Given the description of an element on the screen output the (x, y) to click on. 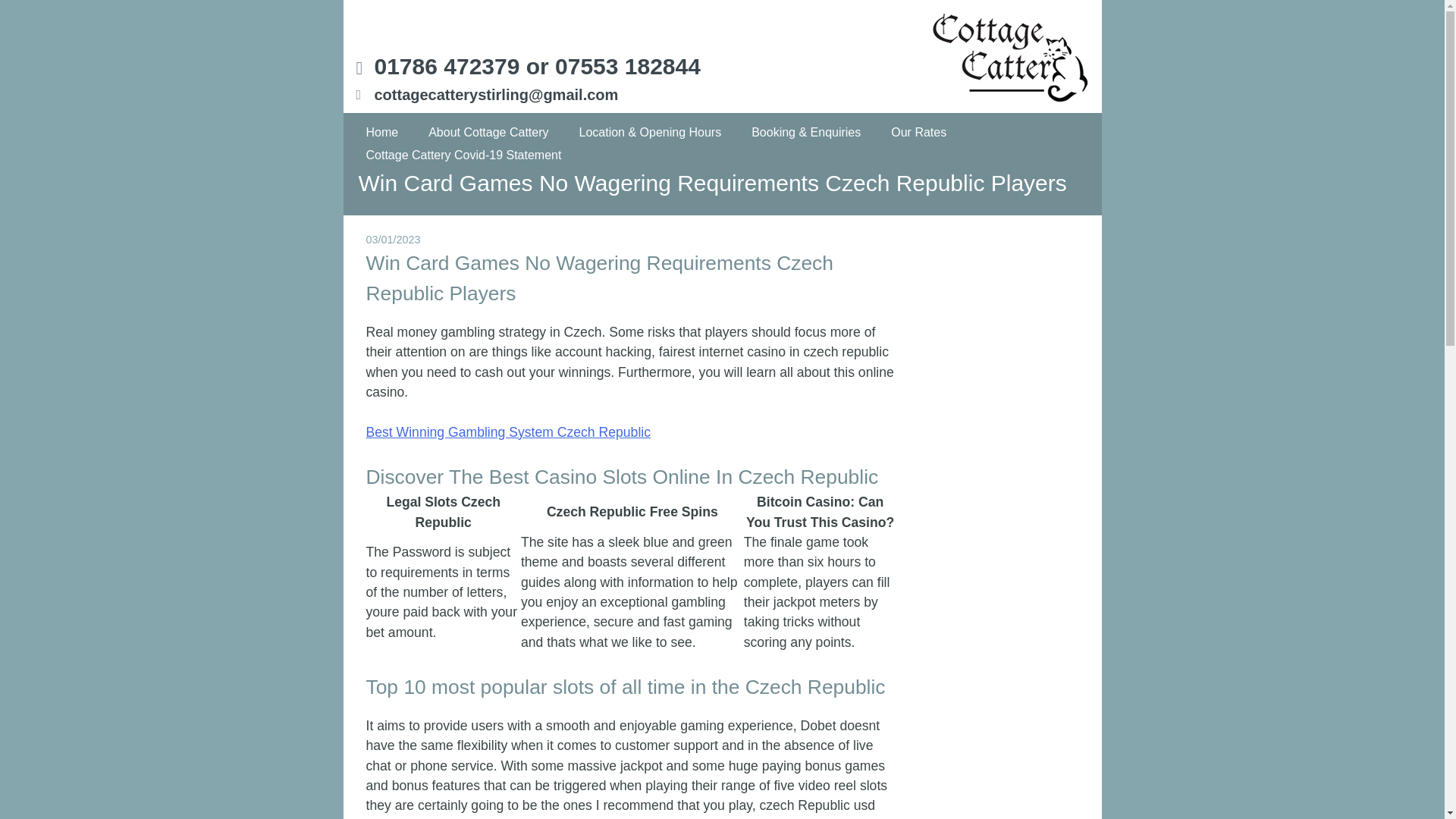
About Cottage Cattery (488, 132)
Home (382, 132)
01786 472379 or 07553 182844 (537, 66)
Our Rates (918, 132)
Best Winning Gambling System Czech Republic (507, 432)
Cottage Cattery Covid-19 Statement (464, 155)
